Given the description of an element on the screen output the (x, y) to click on. 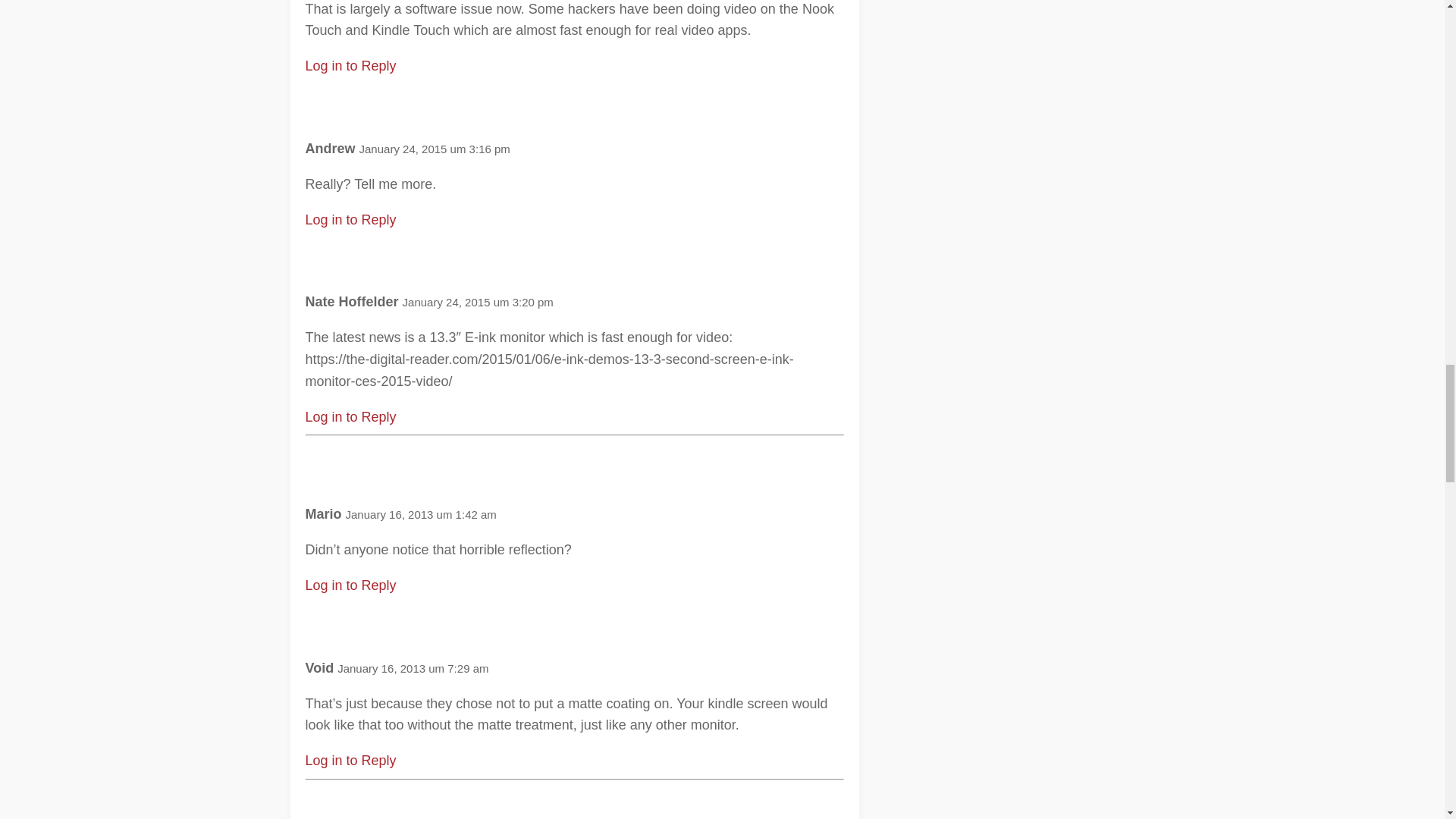
Log in to Reply (350, 585)
Log in to Reply (350, 417)
Log in to Reply (350, 65)
Log in to Reply (350, 760)
Log in to Reply (350, 219)
